Given the description of an element on the screen output the (x, y) to click on. 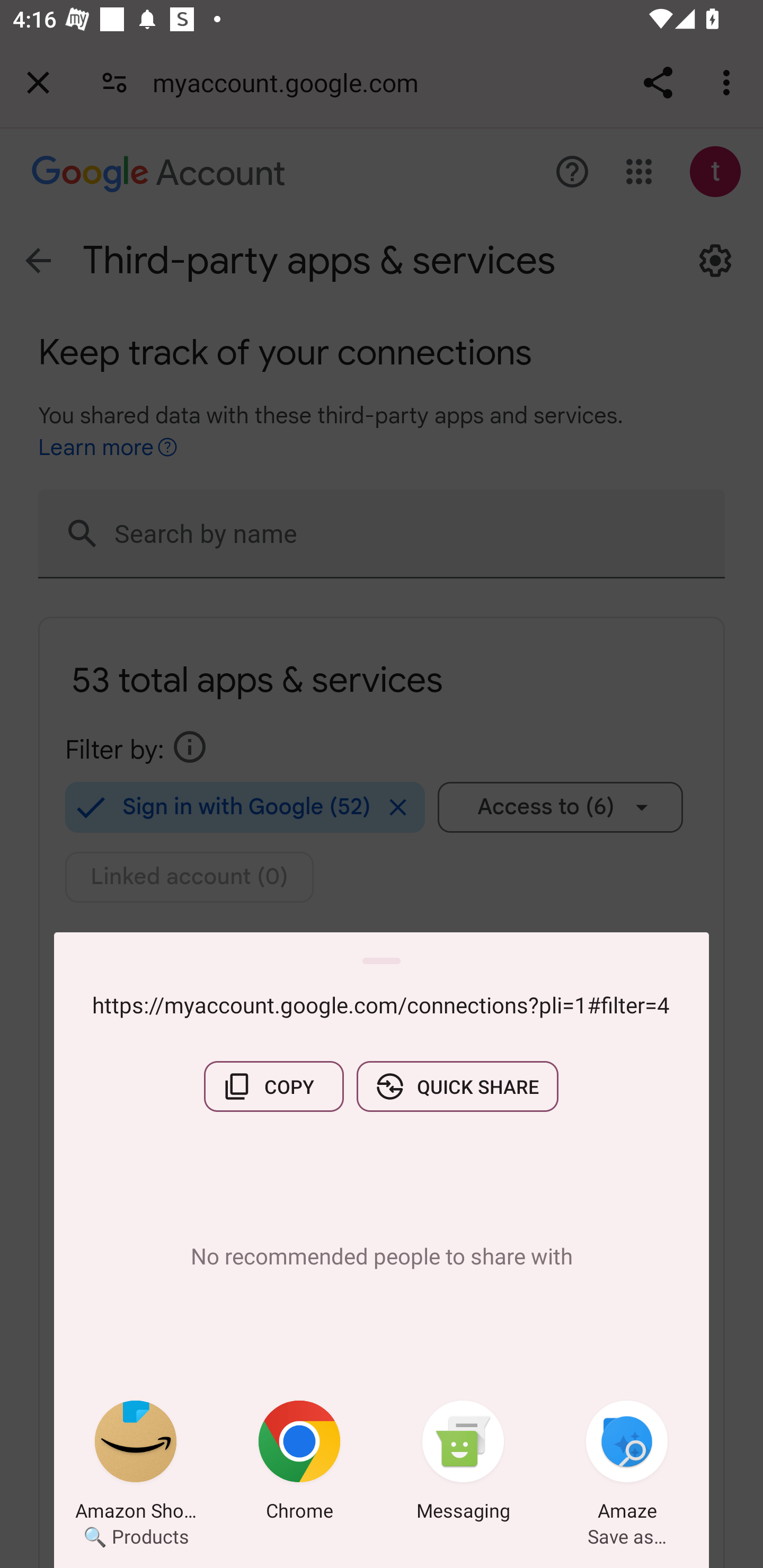
COPY (273, 1086)
QUICK SHARE (457, 1086)
Amazon Shopping 🔍 Products (135, 1463)
Chrome (299, 1463)
Messaging (463, 1463)
Amaze Save as… (626, 1463)
